Given the description of an element on the screen output the (x, y) to click on. 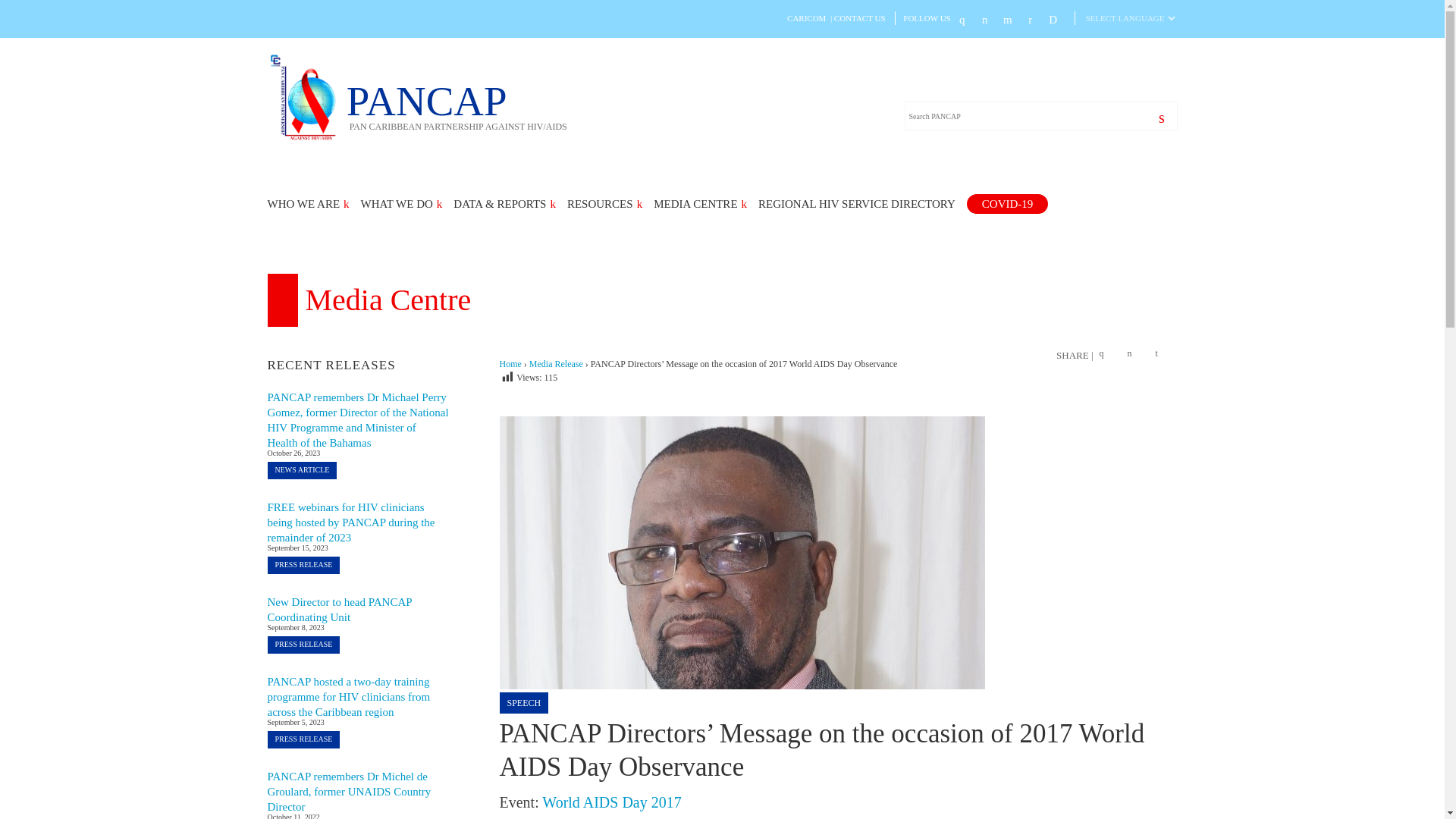
CARICOM (806, 17)
Click to share on Facebook (1105, 354)
Click to email this to a friend (1161, 354)
CONTACT US (859, 17)
PANCAP (456, 105)
New Director to head PANCAP Coordinating Unit (339, 609)
Click to share on Twitter (1132, 354)
PANCAP (306, 138)
